Given the description of an element on the screen output the (x, y) to click on. 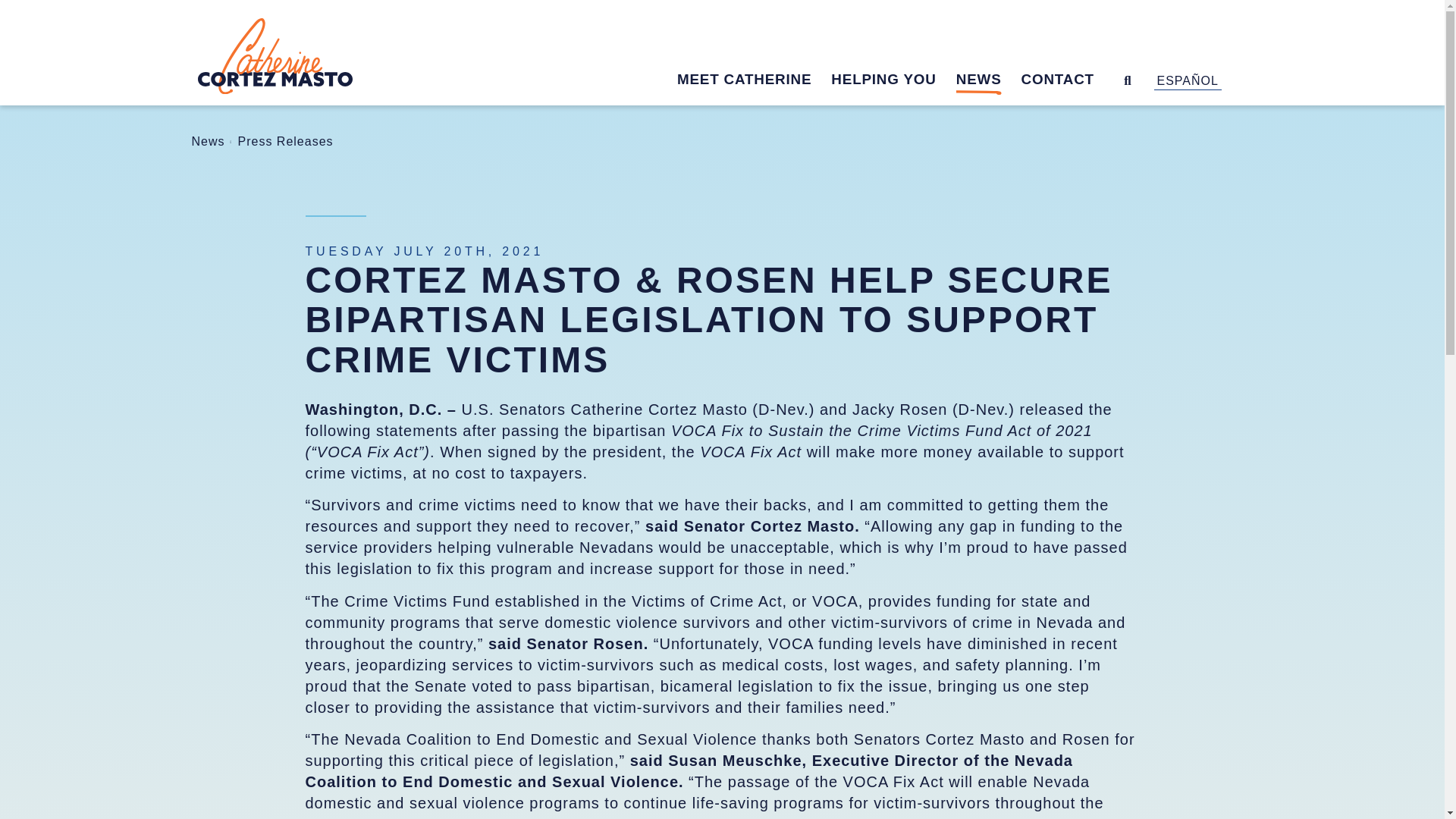
Press Releases (285, 141)
News (207, 141)
MEET CATHERINE (754, 81)
HELPING YOU (893, 81)
